Given the description of an element on the screen output the (x, y) to click on. 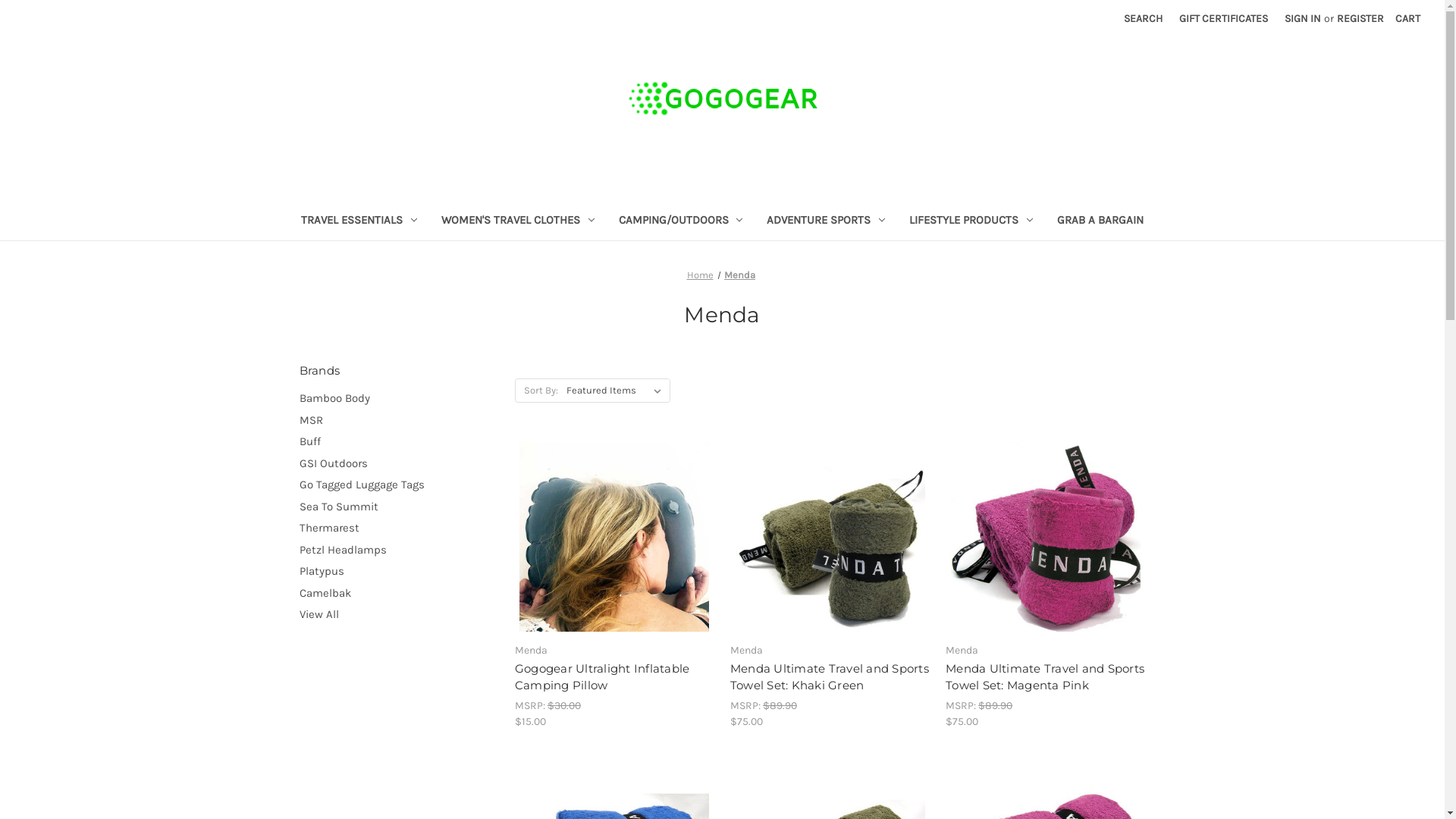
REGISTER Element type: text (1360, 18)
Menda Ultimate Travel and Sports Towel Set: Khaki Green Element type: hover (829, 536)
GSI Outdoors Element type: text (398, 463)
Go Tagged Luggage Tags Element type: text (398, 484)
Platypus Element type: text (398, 571)
GIFT CERTIFICATES Element type: text (1223, 18)
Gogogear Ultralight Inflatable Camping Pillow Element type: hover (614, 536)
SIGN IN Element type: text (1302, 18)
MSR Element type: text (398, 420)
Bamboo Body Element type: text (398, 398)
Sea To Summit Element type: text (398, 506)
SEARCH Element type: text (1142, 18)
Gogogear Ultralight Inflatable Camping Pillow Element type: text (614, 677)
View All Element type: text (398, 614)
CART Element type: text (1407, 18)
Thermarest Element type: text (398, 528)
Menda Ultimate Travel and Sports Towel Set: Magenta Pink Element type: text (1045, 677)
WOMEN'S TRAVEL CLOTHES Element type: text (517, 221)
Menda Element type: text (739, 274)
CAMPING/OUTDOORS Element type: text (680, 221)
Petzl Headlamps Element type: text (398, 550)
LIFESTYLE PRODUCTS Element type: text (970, 221)
Buff Element type: text (398, 441)
GRAB A BARGAIN Element type: text (1099, 221)
Menda Ultimate Travel and Sports Towel Set: Khaki Green Element type: text (829, 677)
Home Element type: text (700, 274)
TRAVEL ESSENTIALS Element type: text (358, 221)
Menda Ultimate Travel and Sports Towel Set: Magenta Pink Element type: hover (1044, 536)
GOGOGEAR Element type: hover (722, 98)
Camelbak Element type: text (398, 593)
ADVENTURE SPORTS Element type: text (825, 221)
